Given the description of an element on the screen output the (x, y) to click on. 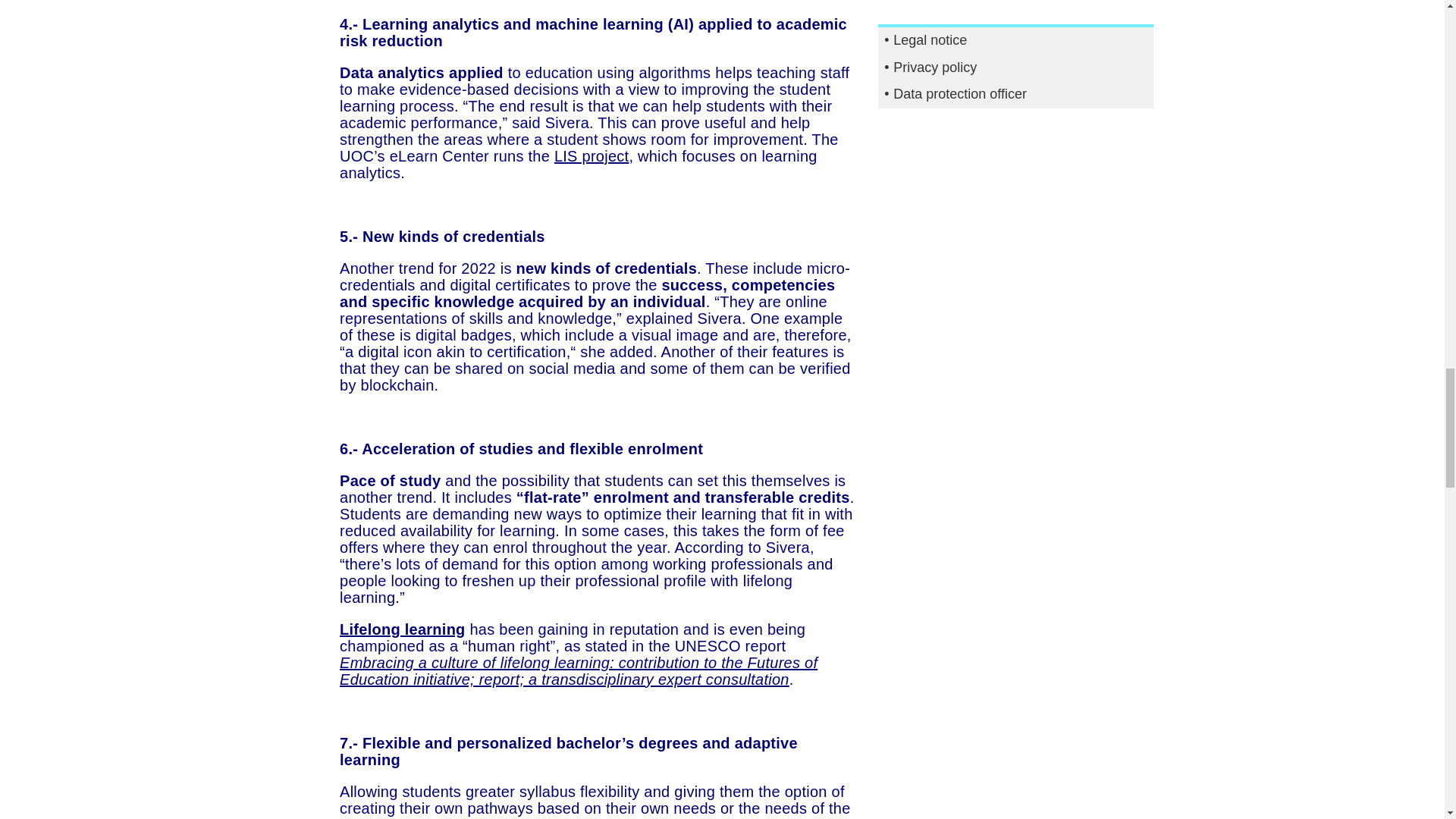
Lifelong learning (402, 629)
LIS project (591, 156)
